Given the description of an element on the screen output the (x, y) to click on. 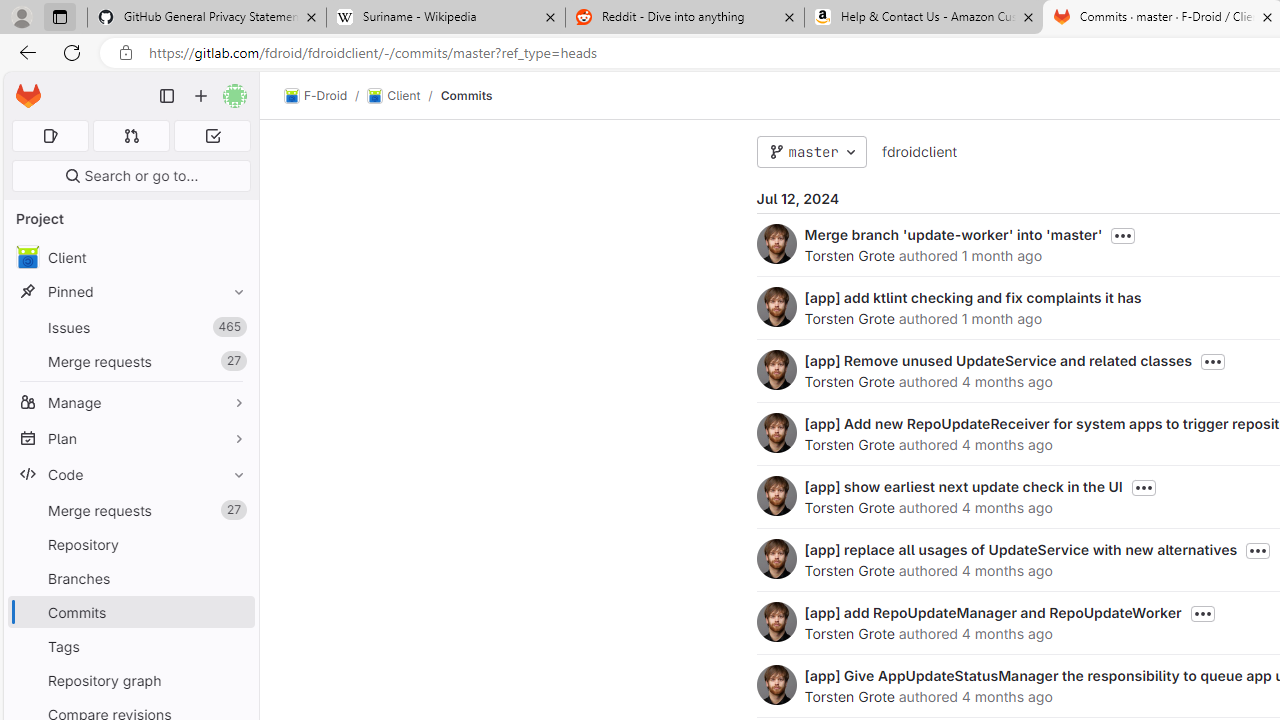
F-Droid/ (326, 96)
Merge requests27 (130, 510)
[app] show earliest next update check in the UI (962, 486)
[app] add RepoUpdateManager and RepoUpdateWorker (992, 612)
Merge requests 27 (130, 510)
fdroidclient (918, 151)
fdroidclient (918, 151)
GitHub General Privacy Statement - GitHub Docs (207, 17)
F-Droid (316, 96)
Manage (130, 402)
Reddit - Dive into anything (684, 17)
Unpin Issues (234, 327)
Suriname - Wikipedia (445, 17)
[app] add ktlint checking and fix complaints it has (972, 297)
Repository graph (130, 679)
